Given the description of an element on the screen output the (x, y) to click on. 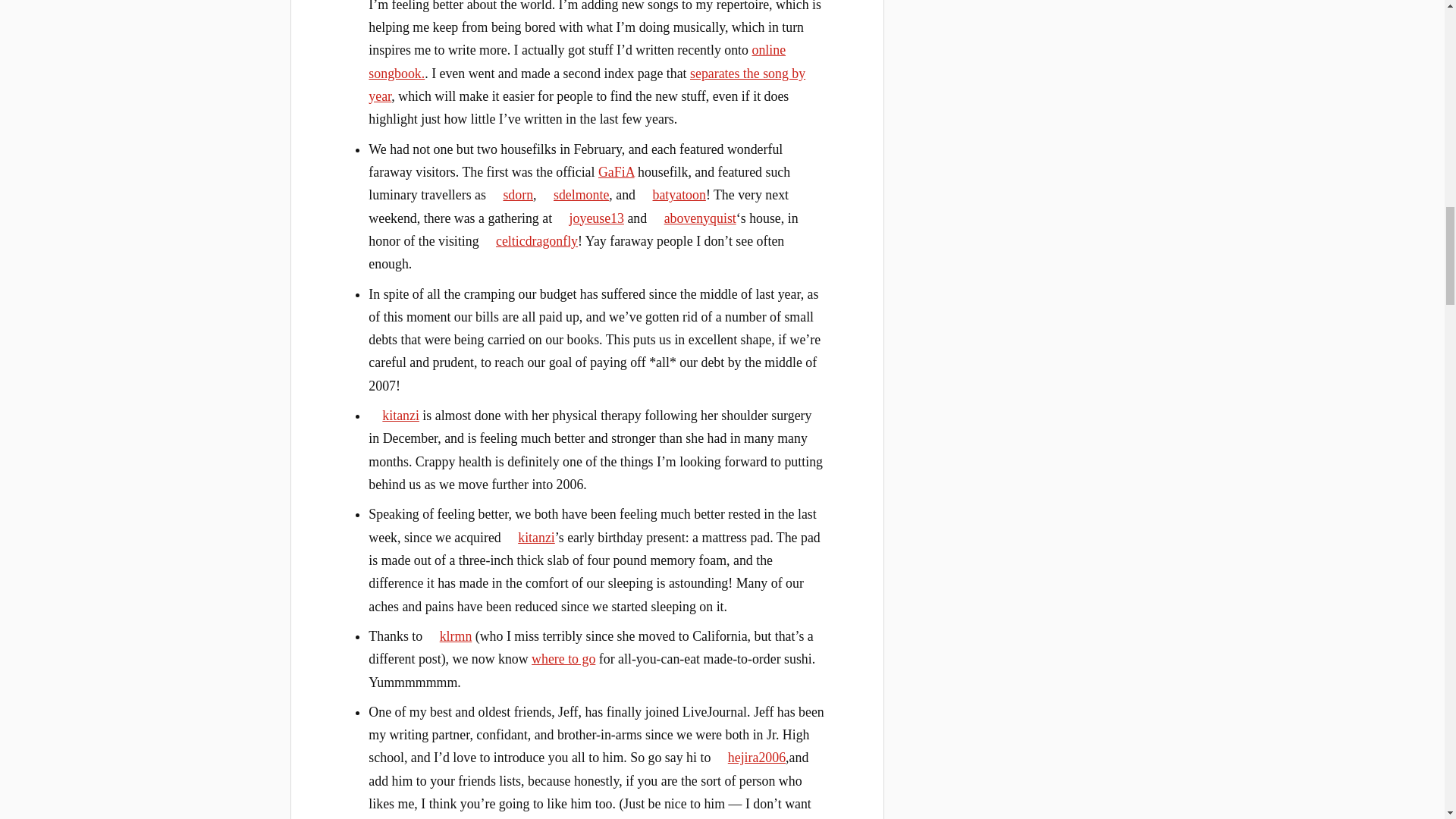
online songbook. (577, 61)
Visit kitanzi's LiveJournal (528, 537)
Visit hejira2006's LiveJournal (750, 757)
Visit kitanzi's LiveJournal (393, 415)
Visit joyeuse13's LiveJournal (590, 218)
Visit klrmn's LiveJournal (448, 635)
Visit sdelmonte's LiveJournal (574, 194)
Visit batyatoon's LiveJournal (671, 194)
Visit sdorn's LiveJournal (510, 194)
Visit celticdragonfly's LiveJournal (529, 240)
Visit abovenyquist's LiveJournal (693, 218)
separates the song by year (586, 85)
